Given the description of an element on the screen output the (x, y) to click on. 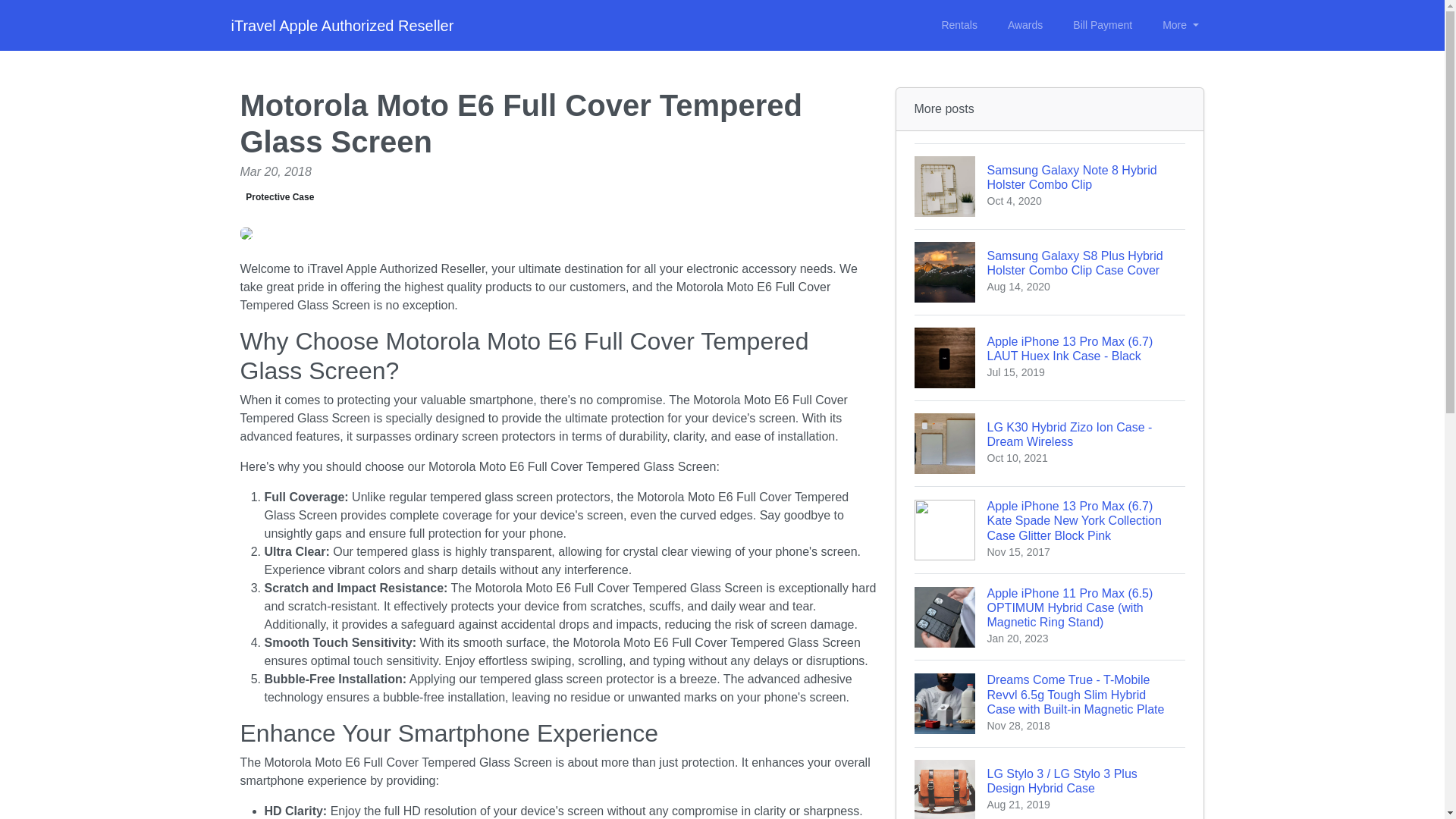
Protective Case (1050, 443)
Bill Payment (280, 196)
Awards (1102, 25)
More (1024, 25)
Rentals (1180, 25)
iTravel Apple Authorized Reseller (1050, 186)
